Given the description of an element on the screen output the (x, y) to click on. 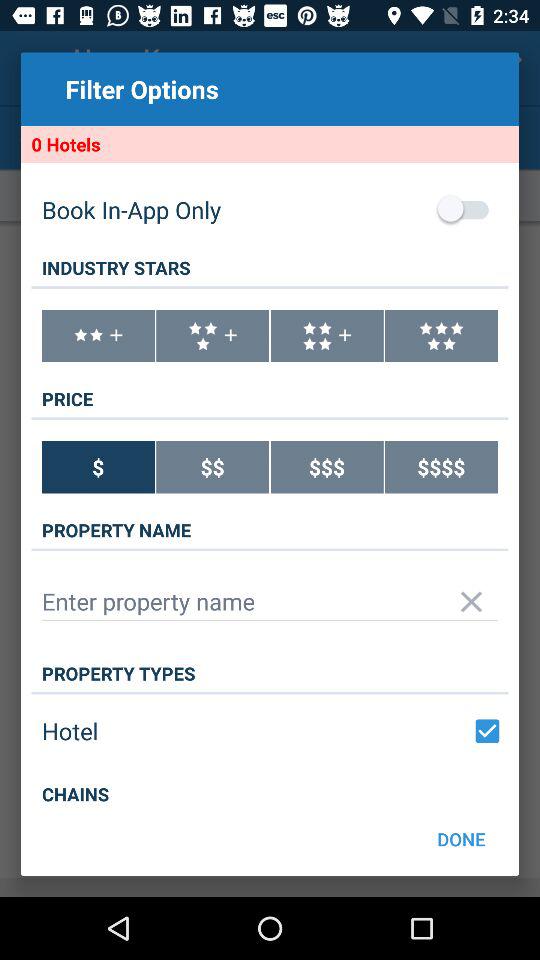
a check box when clicked indicates a choice was made (487, 731)
